Given the description of an element on the screen output the (x, y) to click on. 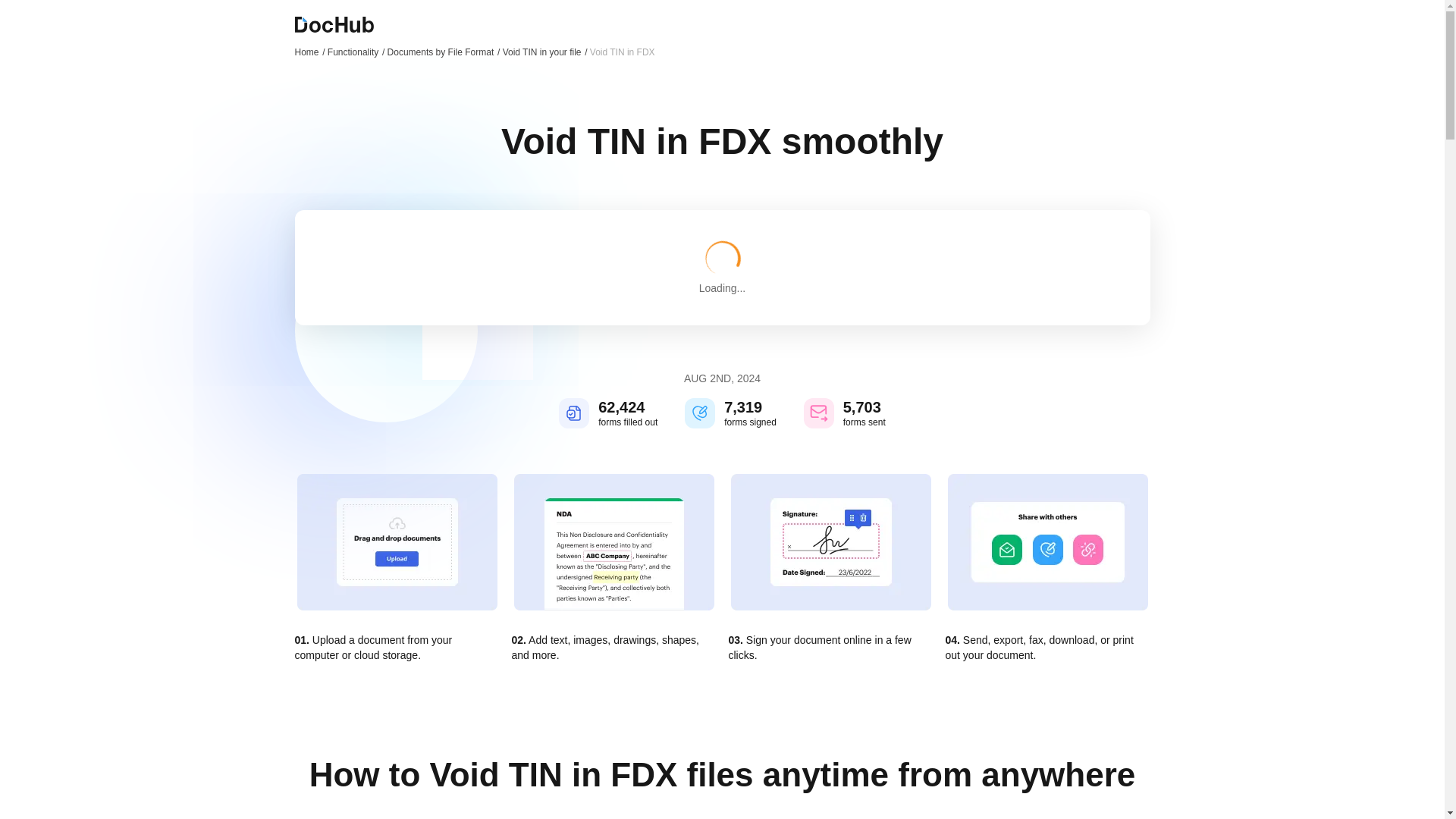
Home (309, 51)
Functionality (355, 51)
Void TIN in your file (545, 51)
Documents by File Format (443, 51)
